Given the description of an element on the screen output the (x, y) to click on. 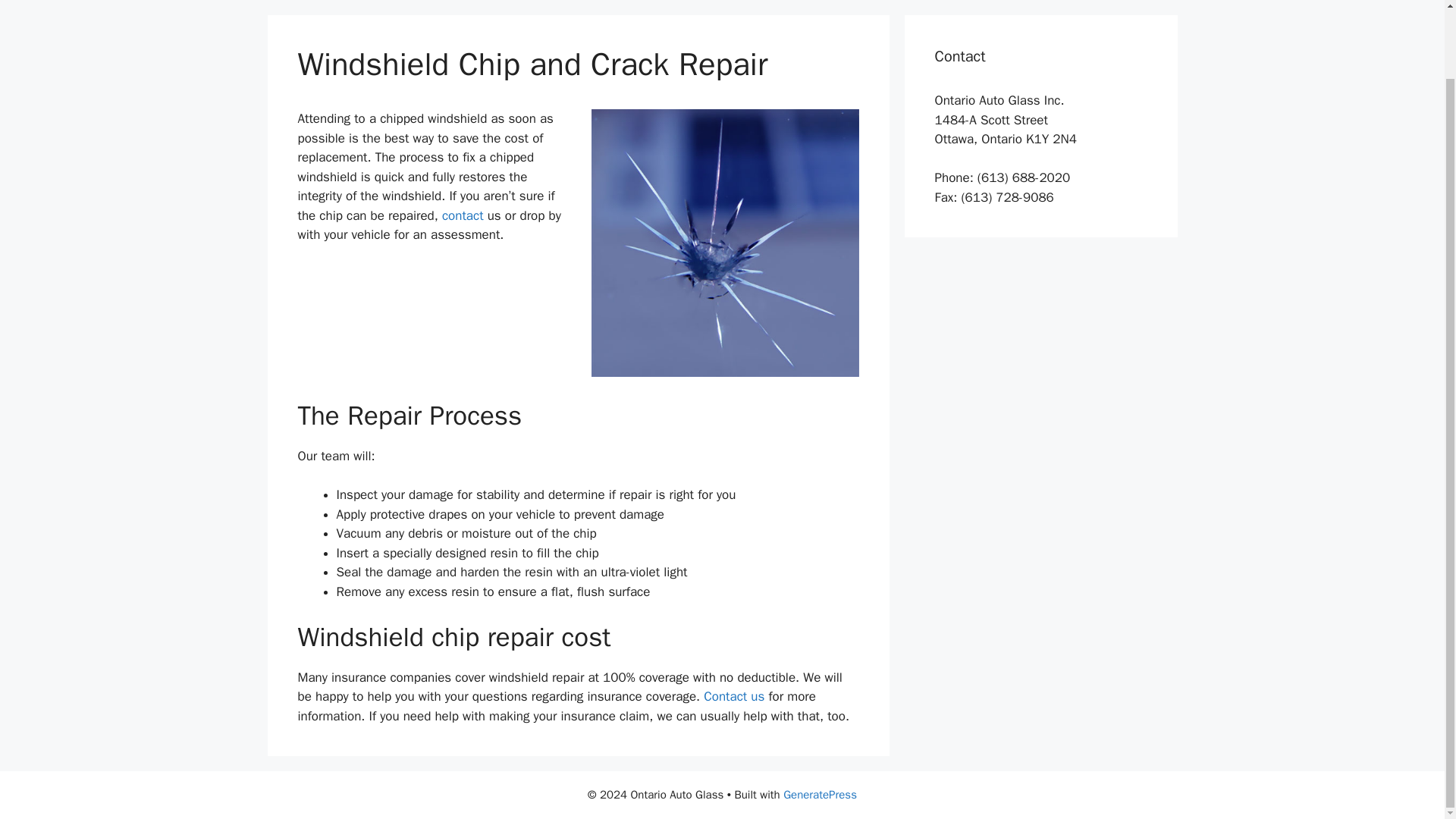
contact (462, 215)
Contact Us (462, 215)
Contact Us (733, 696)
GeneratePress (820, 794)
Contact us (733, 696)
